Given the description of an element on the screen output the (x, y) to click on. 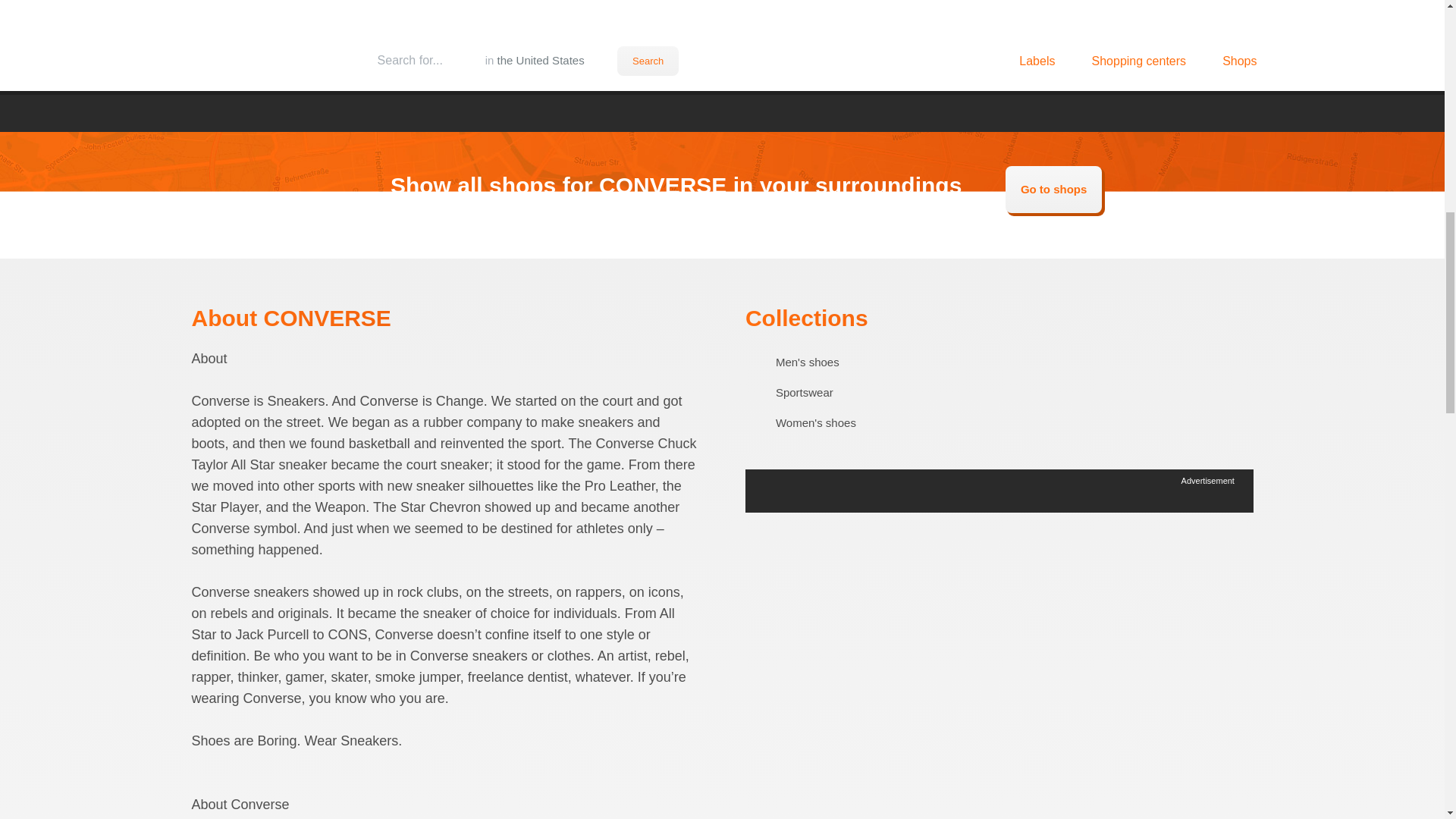
Advertisement (721, 55)
in your surroundings (860, 185)
Go to shops (1054, 189)
